Given the description of an element on the screen output the (x, y) to click on. 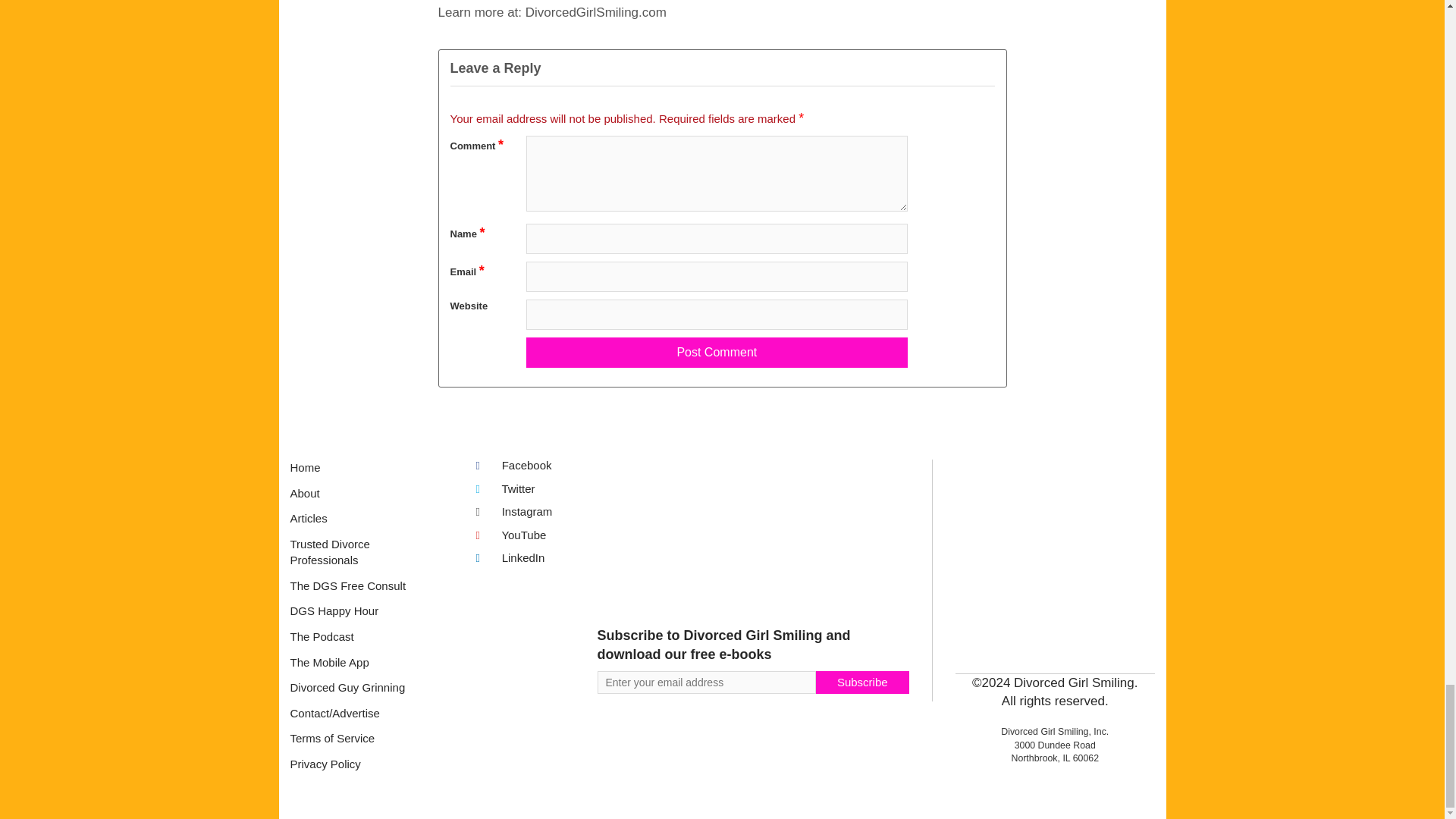
Post Comment (716, 352)
Subscribe (861, 681)
